Given the description of an element on the screen output the (x, y) to click on. 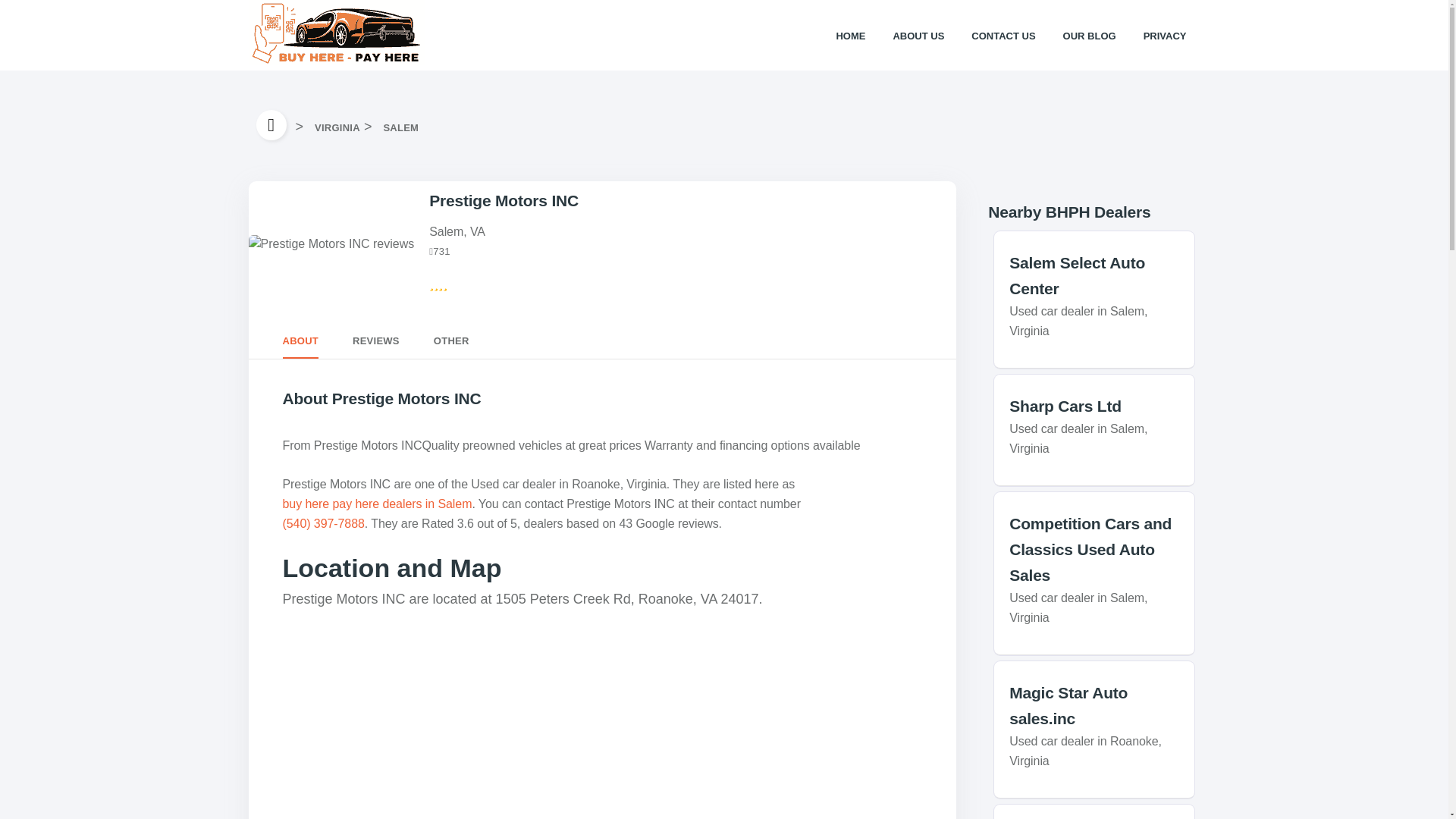
buy here pay here dealers in Salem (376, 504)
SALEM (400, 127)
Buy here pay here Virginia (336, 127)
OTHER (450, 341)
CONTACT US (1003, 35)
VIRGINIA (336, 127)
Buy here pay here dealer in Salem (400, 127)
REVIEWS (375, 341)
Buy here pay here USA (275, 124)
ABOUT (300, 341)
